Given the description of an element on the screen output the (x, y) to click on. 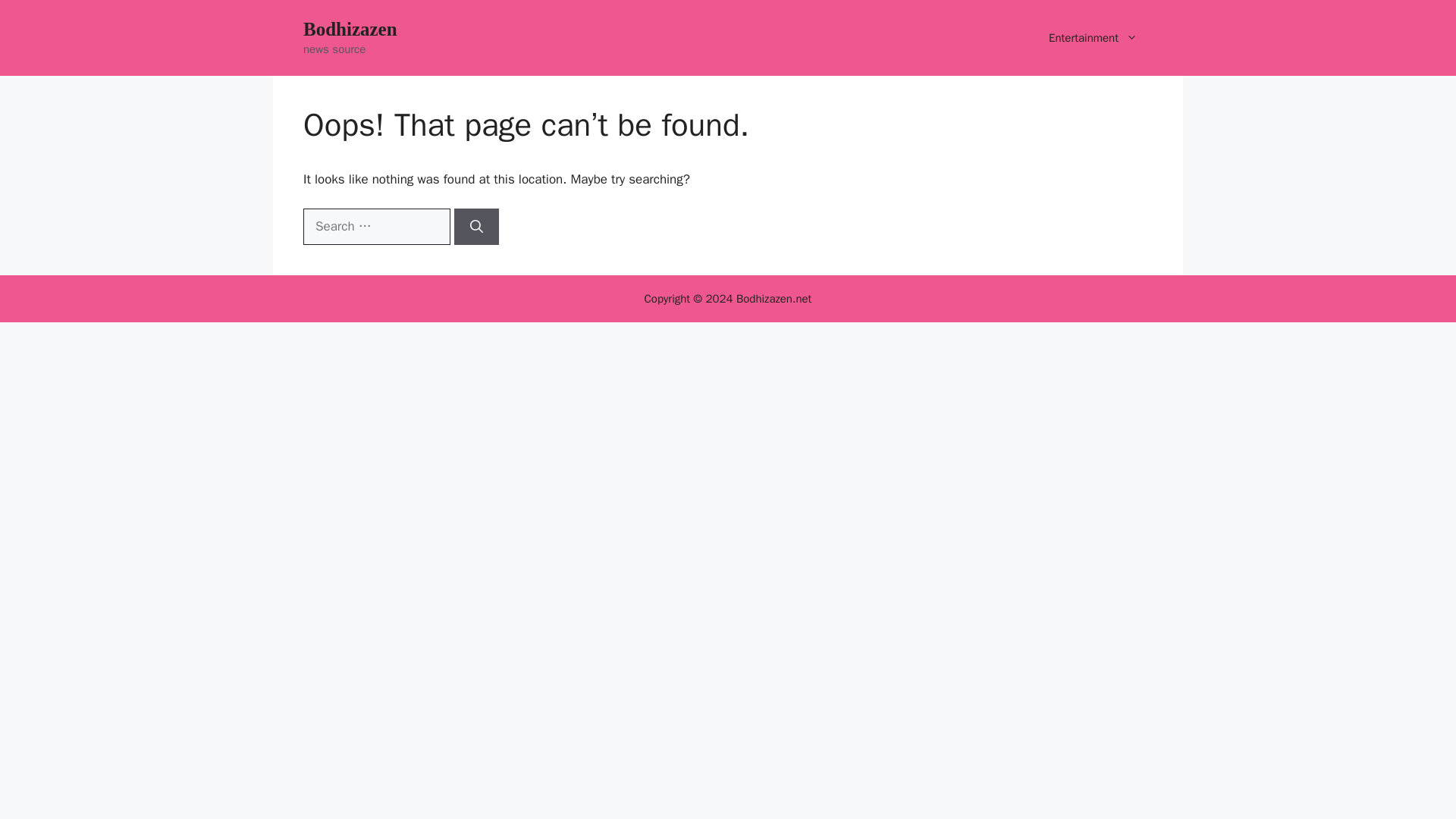
Bodhizazen (349, 28)
Search for: (375, 226)
Entertainment (1093, 37)
